Given the description of an element on the screen output the (x, y) to click on. 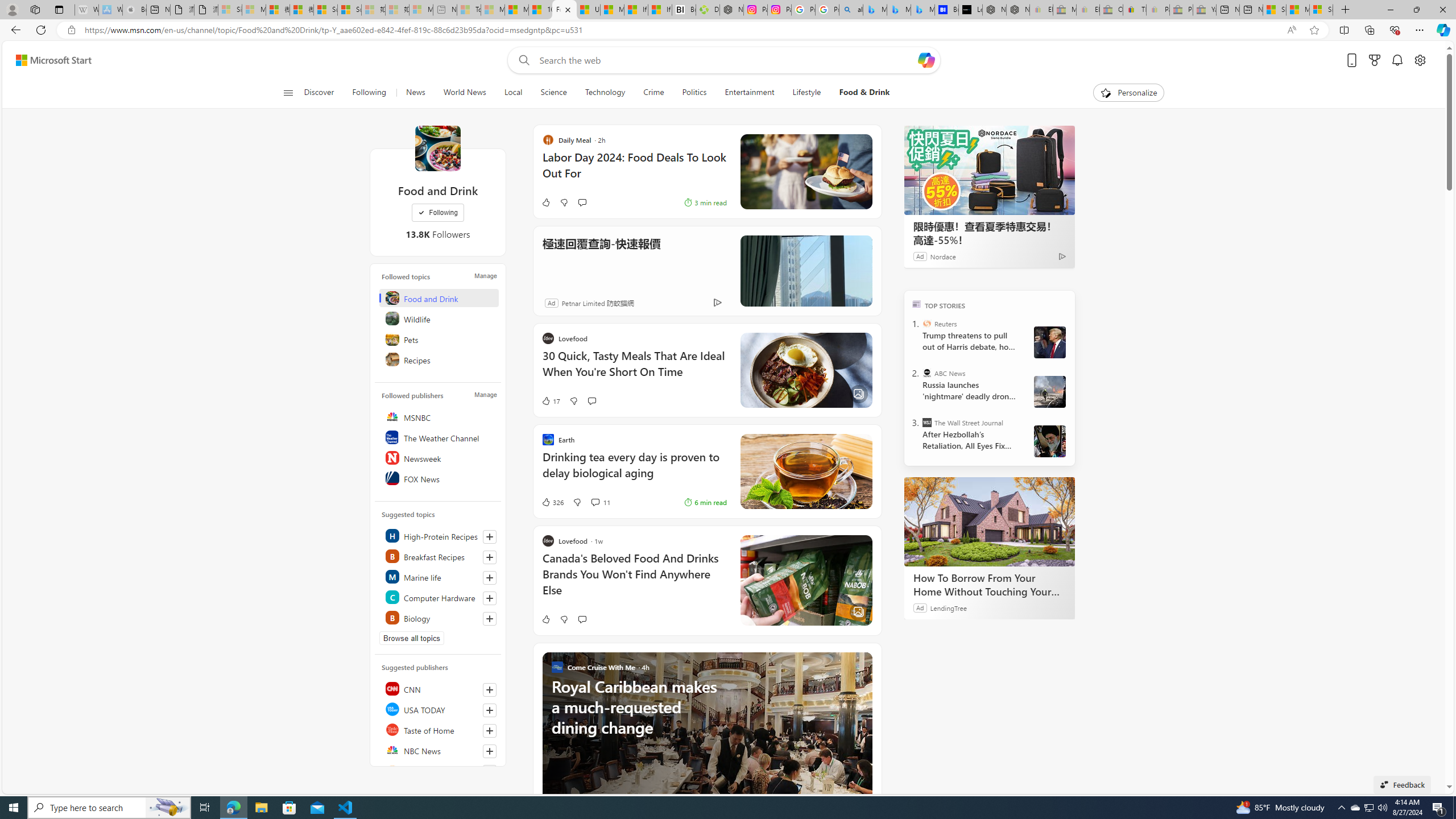
Lifestyle (806, 92)
Recipes (439, 359)
Microsoft Bing Travel - Flights from Hong Kong to Bangkok (874, 9)
Follow this source (489, 751)
World News (464, 92)
USA TODAY (439, 709)
Start the conversation (581, 619)
Sign in to your Microsoft account (1321, 9)
Buy iPad - Apple - Sleeping (134, 9)
Entertainment (748, 92)
